Given the description of an element on the screen output the (x, y) to click on. 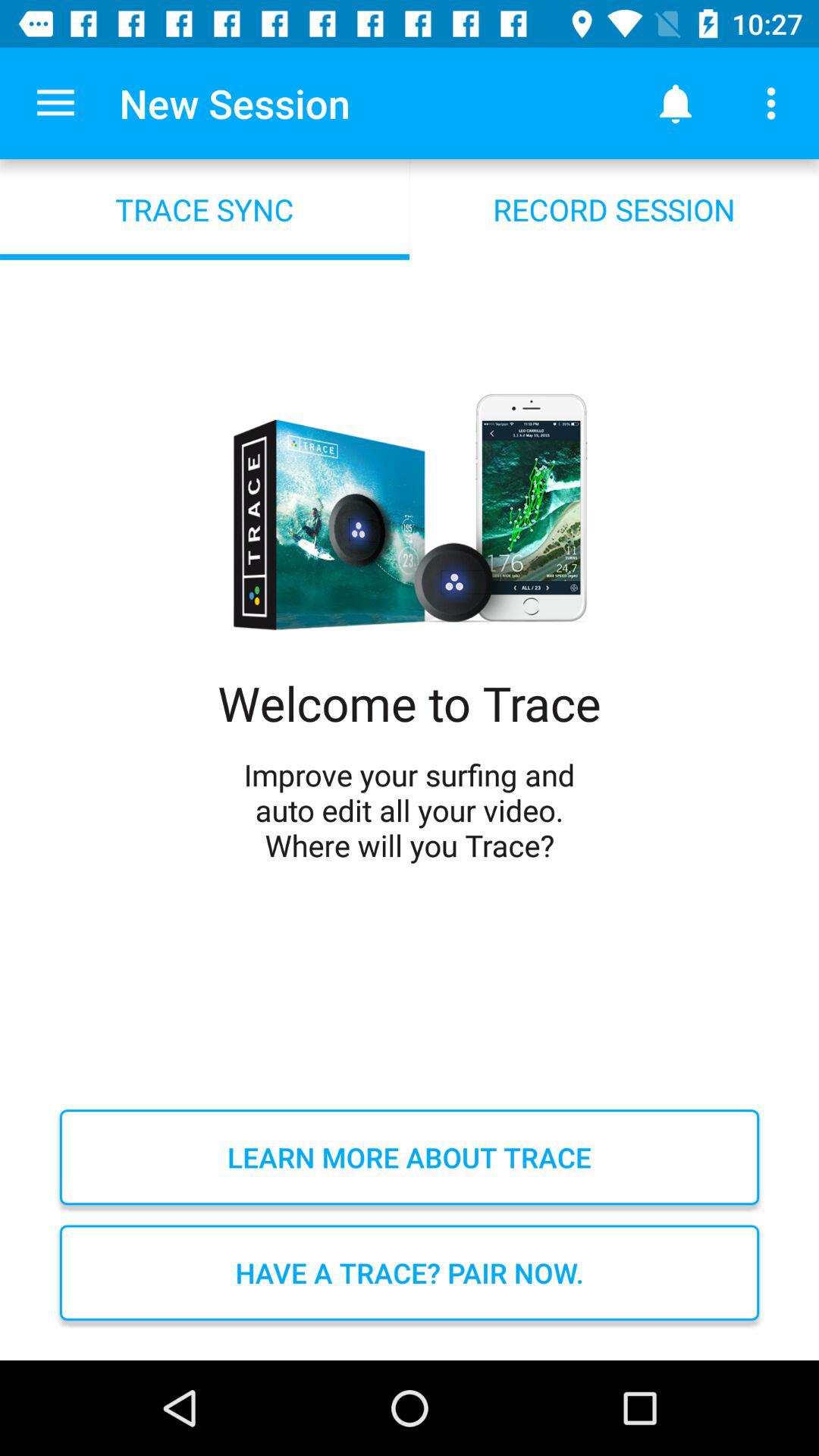
select icon below improve your surfing item (409, 1157)
